Given the description of an element on the screen output the (x, y) to click on. 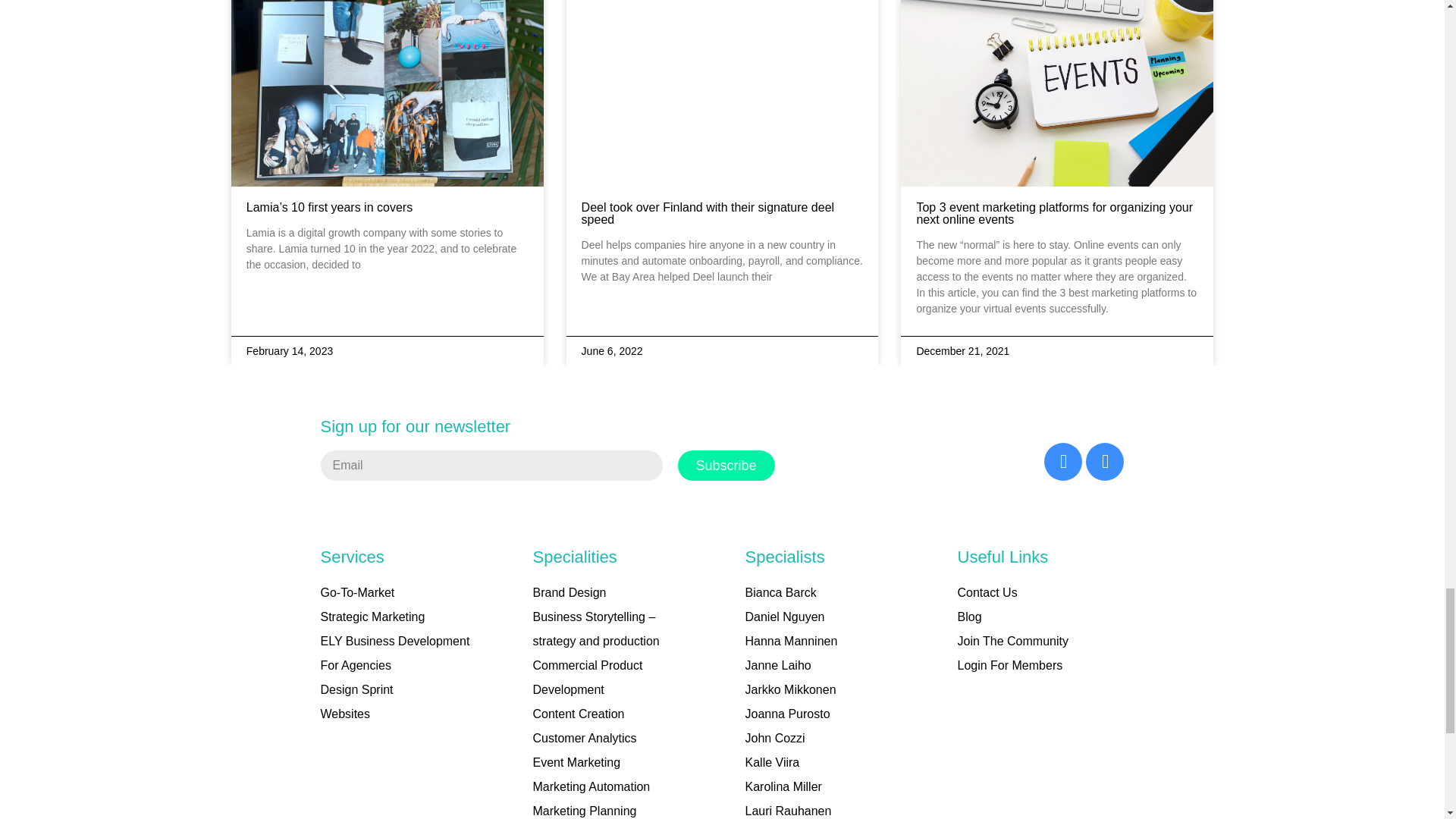
Subscribe (726, 465)
Deel took over Finland with their signature deel speed (707, 213)
Strategic Marketing (372, 617)
Go-To-Market (357, 592)
